Given the description of an element on the screen output the (x, y) to click on. 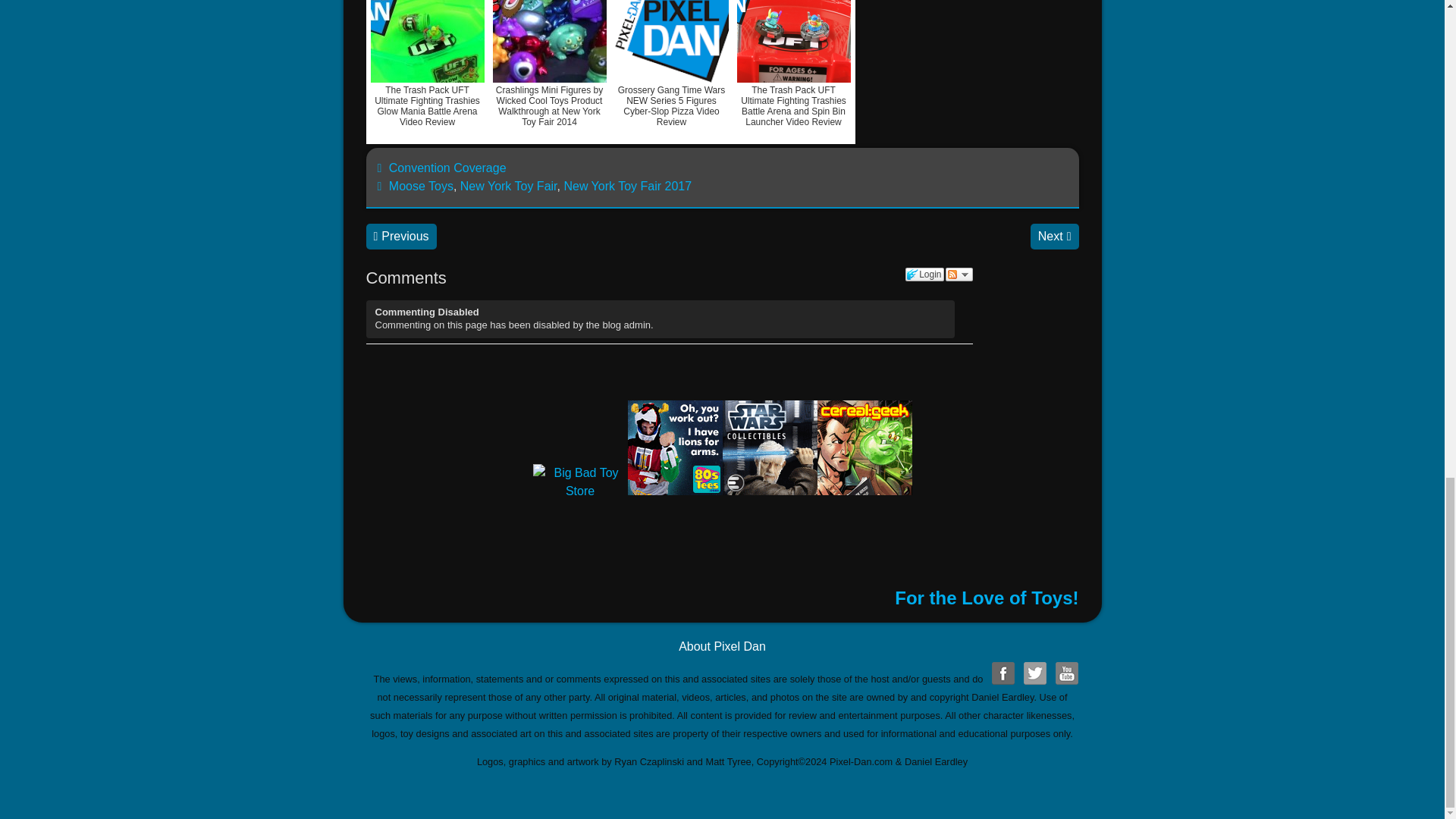
Previous (400, 236)
New York Toy Fair 2017 (627, 185)
Login (924, 274)
Little Live Pets New Toys Sneak Peek at Toy Fair 2017 (400, 236)
New York Toy Fair (508, 185)
Moose Toys (420, 185)
Convention Coverage (447, 167)
Next (1054, 236)
